Given the description of an element on the screen output the (x, y) to click on. 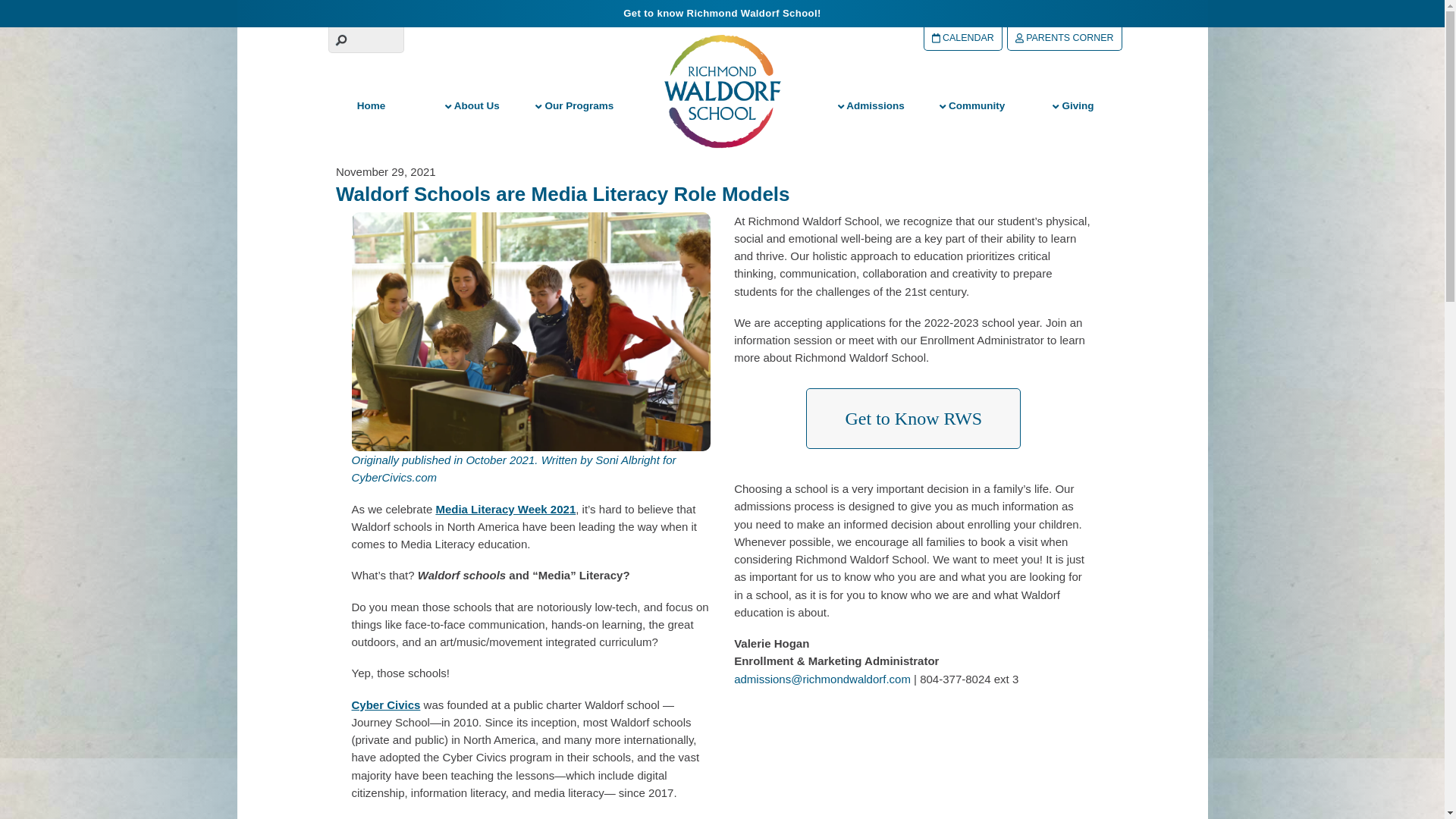
Picture1 (531, 332)
About Us (472, 106)
Giving (1073, 106)
Home (370, 106)
Admissions (871, 106)
CALENDAR (962, 38)
Community (972, 106)
PARENTS CORNER (1064, 38)
Our Programs (573, 106)
Search (365, 40)
